Given the description of an element on the screen output the (x, y) to click on. 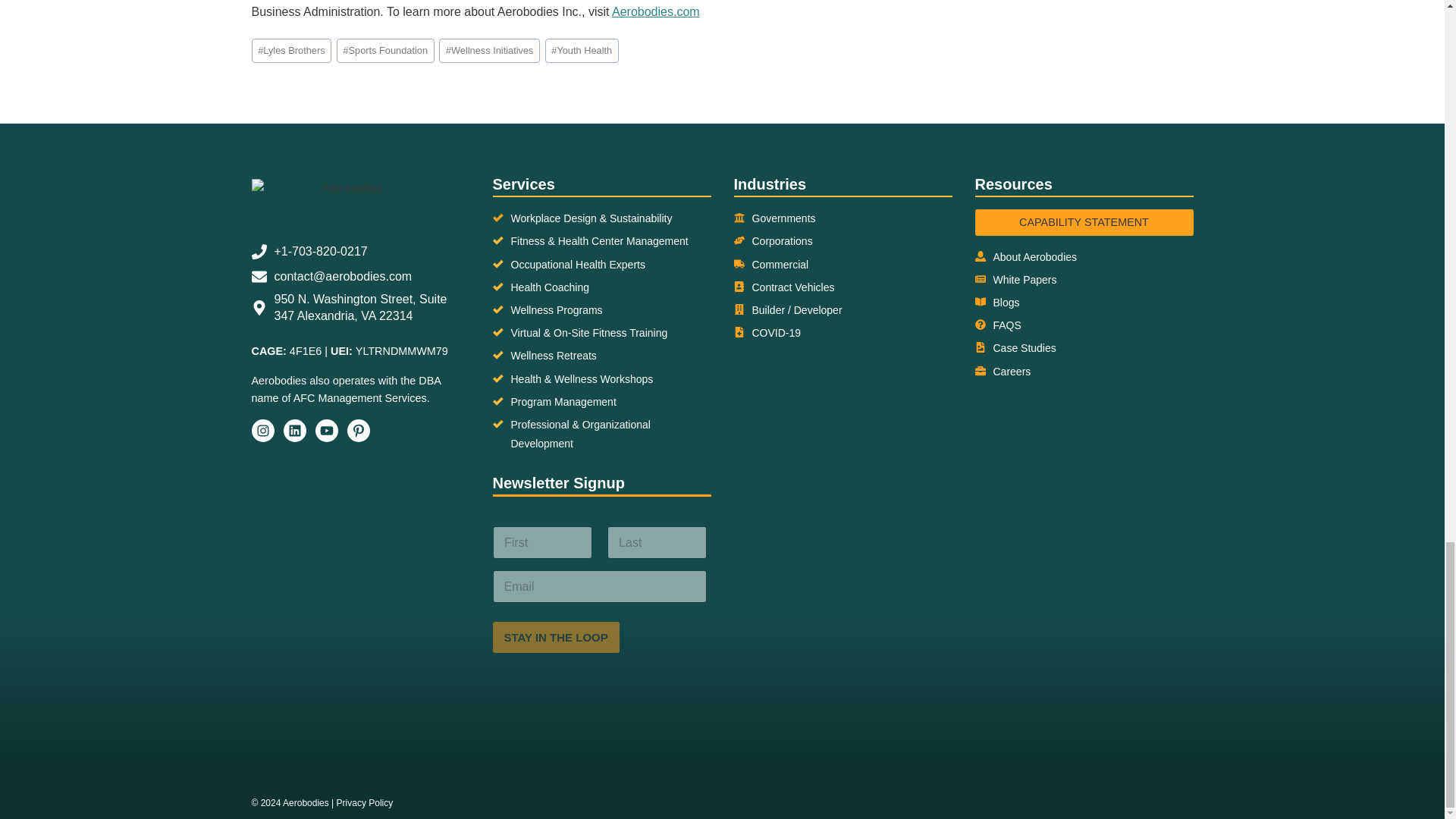
Sports Foundation (384, 50)
Lyles Brothers (291, 50)
Aerobodies.com (655, 11)
Wellness Initiatives (489, 50)
Youth Health (581, 50)
